Given the description of an element on the screen output the (x, y) to click on. 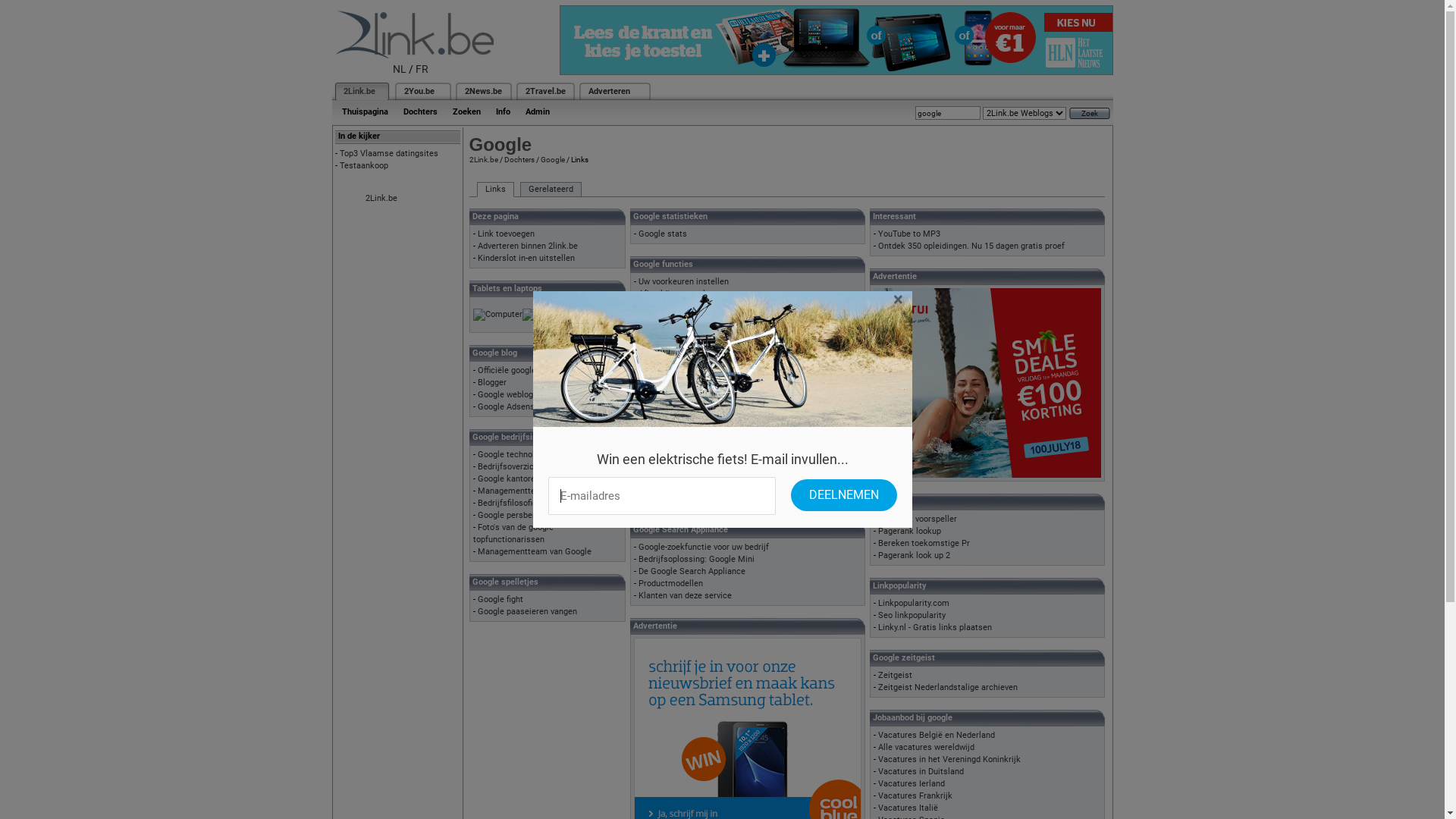
Admin Element type: text (536, 111)
Zoekmachine optimalisatie Element type: text (690, 462)
Gerelateerd Element type: text (550, 189)
Blogger Element type: text (491, 382)
Google Element type: text (551, 159)
Google kantoren wereldwijd Element type: text (529, 478)
Tien meest gemaakte zoekfouten Element type: text (701, 402)
Managementteam van Google Element type: text (534, 490)
Dochters Element type: text (420, 111)
Vacatures Frankrijk Element type: text (915, 795)
Uitleg zoekresultaten Element type: text (678, 426)
Klanten van deze service Element type: text (684, 595)
Zoeken Element type: text (465, 111)
Linkpages.nl Element type: text (662, 499)
NL Element type: text (399, 68)
Zeitgeist Nederlandstalige archieven Element type: text (947, 687)
Linkpopularity.com Element type: text (913, 603)
Zeitgeist Element type: text (895, 675)
Ontdek 350 opleidingen. Nu 15 dagen gratis proef Element type: text (971, 246)
Zoek Element type: text (1089, 113)
Zoekopdrachten verfijnen Element type: text (686, 450)
Adverteren Element type: text (609, 91)
Google technologie Element type: text (513, 454)
Top3 Vlaamse datingsites Element type: text (388, 153)
Linky.nl - Gratis links plaatsen Element type: text (934, 627)
Bedrijfsoplossing: Google Mini Element type: text (696, 559)
Vacatures Ierland Element type: text (911, 783)
Adverteren binnen 2link.be Element type: text (527, 246)
Gids Element type: text (646, 318)
Dochters Element type: text (518, 159)
2News.be Element type: text (482, 91)
Info Element type: text (502, 111)
Vacatures in Duitsland Element type: text (920, 771)
Vacatures in het Vereningd Koninkrijk Element type: text (949, 759)
2Link.be Element type: text (358, 91)
Seo linkpopularity Element type: text (911, 615)
Discussiegroepen Element type: text (672, 305)
Zoeken in blogs Element type: text (668, 330)
Bedrijfsoverzicht Element type: text (509, 466)
Testaankoop Element type: text (363, 165)
Links Element type: text (494, 189)
SEO specialist Element type: text (665, 487)
Thuispagina Element type: text (364, 111)
Google weblogs Element type: text (507, 394)
De Google Search Appliance Element type: text (691, 571)
Online marketing Nijmegen Element type: text (690, 475)
Link toevoegen Element type: text (505, 233)
Help bij het zoeken Element type: text (674, 377)
Bedrijfsfilosofie in 10 punten Element type: text (531, 503)
Afbeeldingen zoeken Element type: text (677, 293)
pagerank voorspeller Element type: text (917, 519)
Tien zoektips Element type: text (663, 414)
Google persberichten Element type: text (517, 515)
Productmodellen Element type: text (670, 583)
Pagerank look up 2 Element type: text (914, 555)
2Link.be Element type: text (381, 198)
Alle vacatures wereldwijd Element type: text (926, 747)
Foto's van de google topfunctionarissen Element type: text (513, 533)
Managementteam van Google Element type: text (534, 551)
FR Element type: text (421, 68)
2Link.be Element type: text (482, 159)
Uw voorkeuren instellen Element type: text (683, 281)
Google stats Element type: text (662, 233)
Google paaseieren vangen Element type: text (527, 611)
2You.be Element type: text (418, 91)
2Travel.be Element type: text (544, 91)
Google Adsense Blog Element type: text (517, 406)
YouTube to MP3 Element type: text (909, 233)
Bereken toekomstige Pr Element type: text (923, 543)
Kinderslot in-en uitstellen Element type: text (525, 258)
Google fight Element type: text (500, 599)
Te mijden zoekwoorden Element type: text (682, 390)
Zoeken met twee woorden Element type: text (688, 438)
Pagerank lookup Element type: text (909, 531)
Google-zoekfunctie voor uw bedrijf Element type: text (703, 547)
